Given the description of an element on the screen output the (x, y) to click on. 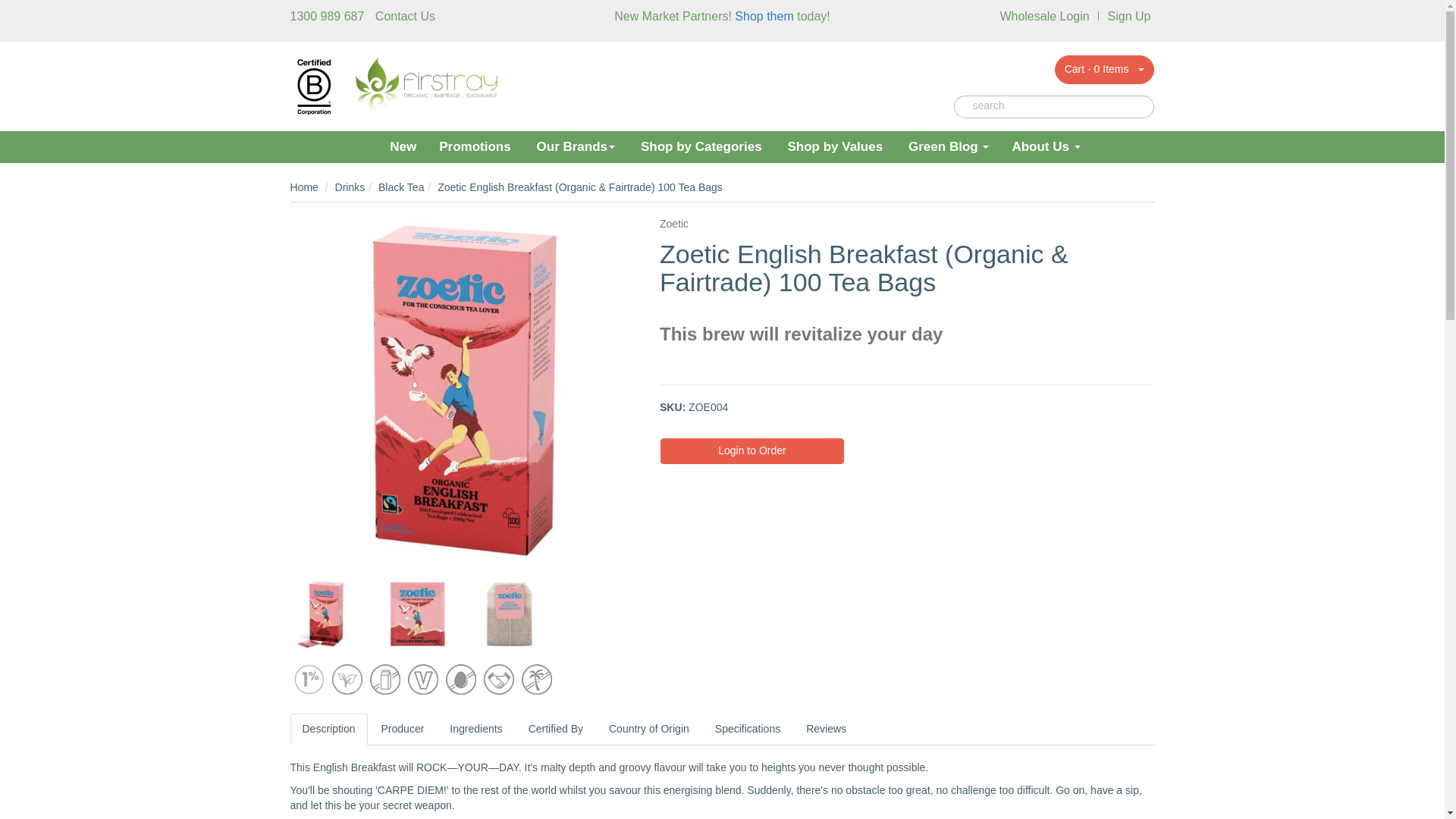
First Ray (369, 142)
Welcome to First Ray (425, 85)
Wholesale Login (1043, 15)
Cart - 0 Items (1091, 69)
Sign Up (1129, 15)
Search (962, 106)
Large View (416, 614)
Contact Us (405, 15)
Shop them (764, 15)
Large View (324, 614)
Large View (509, 614)
1300 989 687 (326, 15)
